Given the description of an element on the screen output the (x, y) to click on. 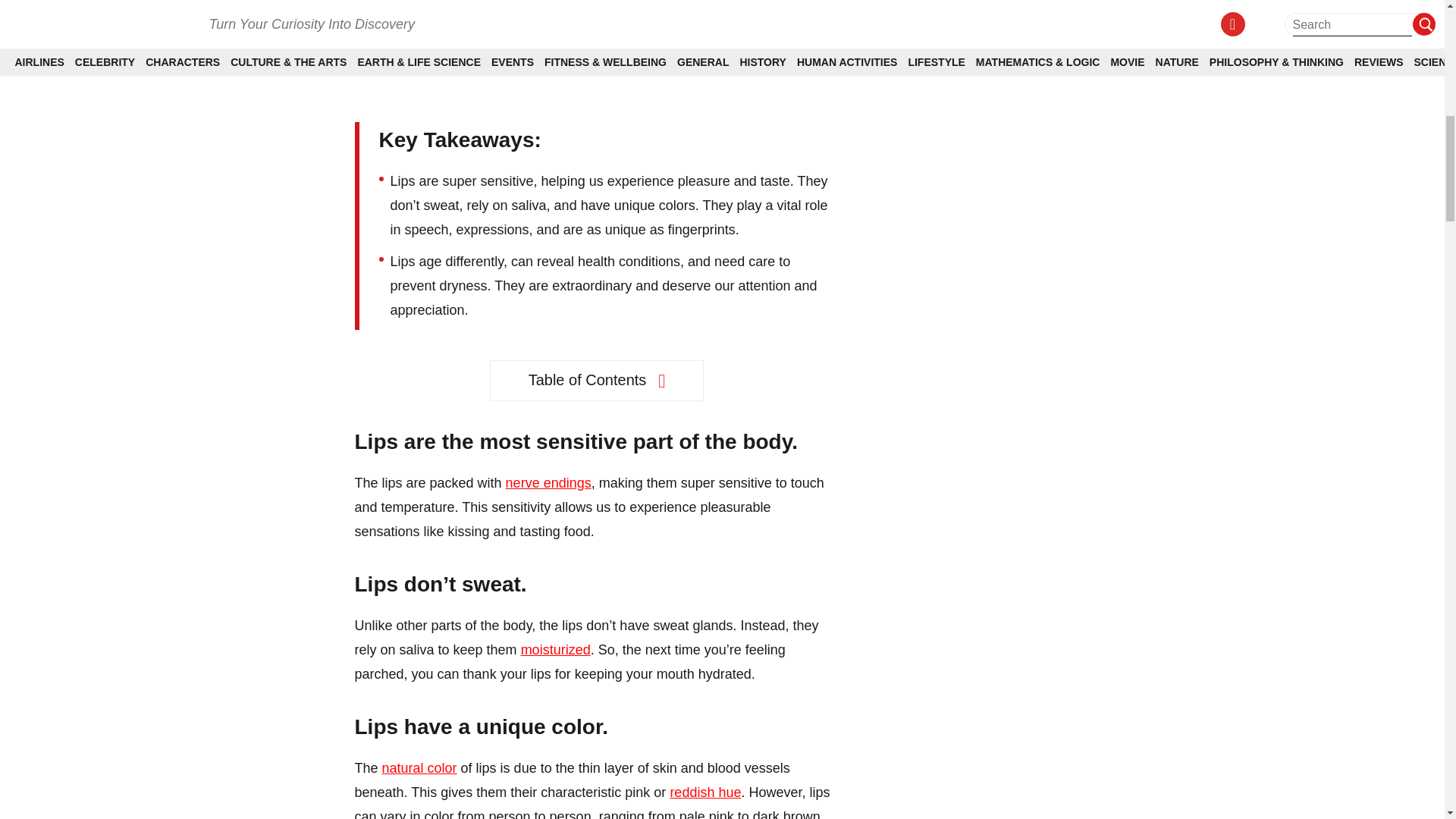
reddish hue (705, 792)
sensitivity (384, 39)
nerve endings (548, 482)
natural color (419, 767)
moisturized (556, 649)
